Given the description of an element on the screen output the (x, y) to click on. 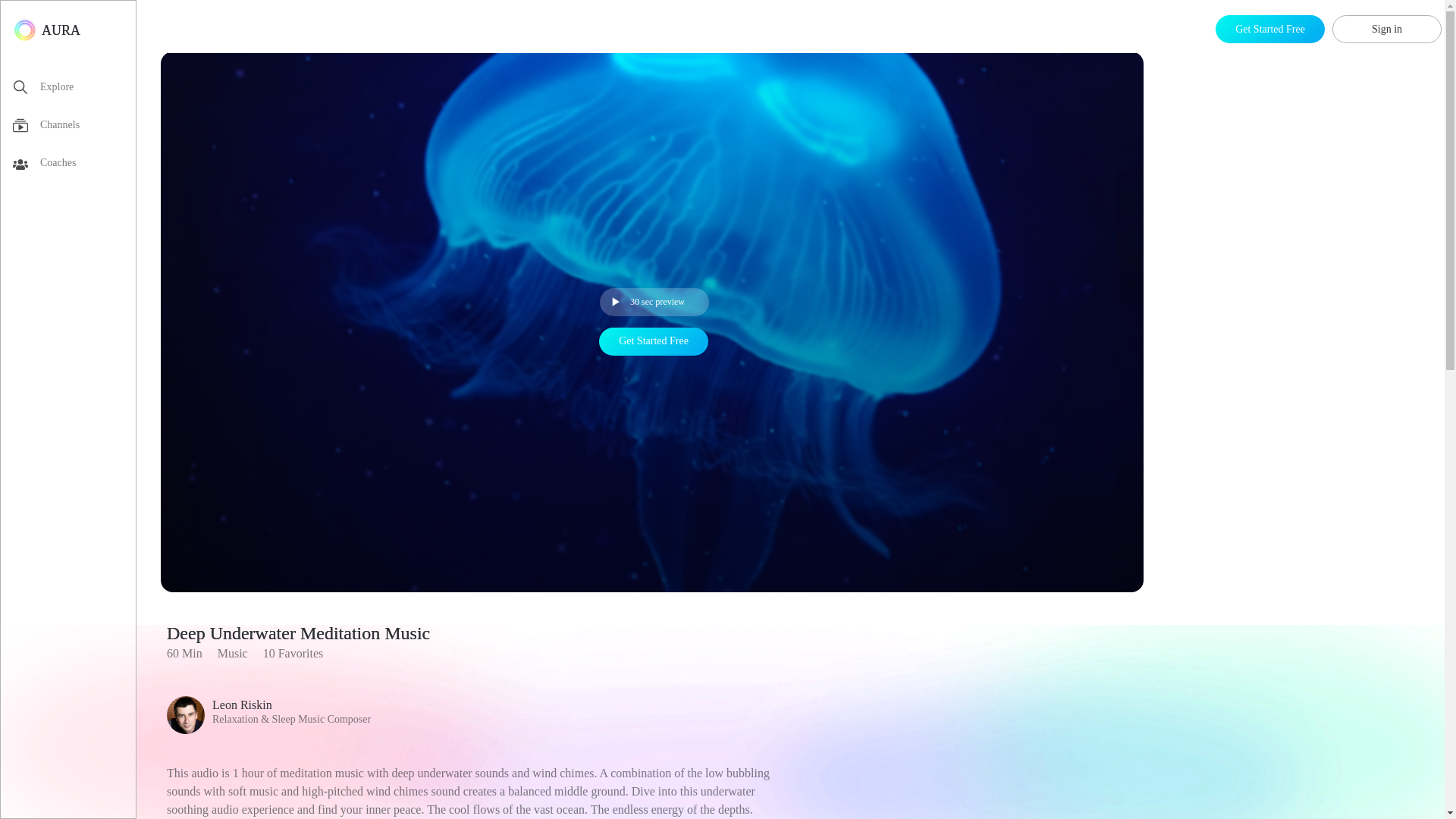
Coaches (74, 166)
AURA (46, 29)
Channels (74, 127)
Explore (74, 89)
